Given the description of an element on the screen output the (x, y) to click on. 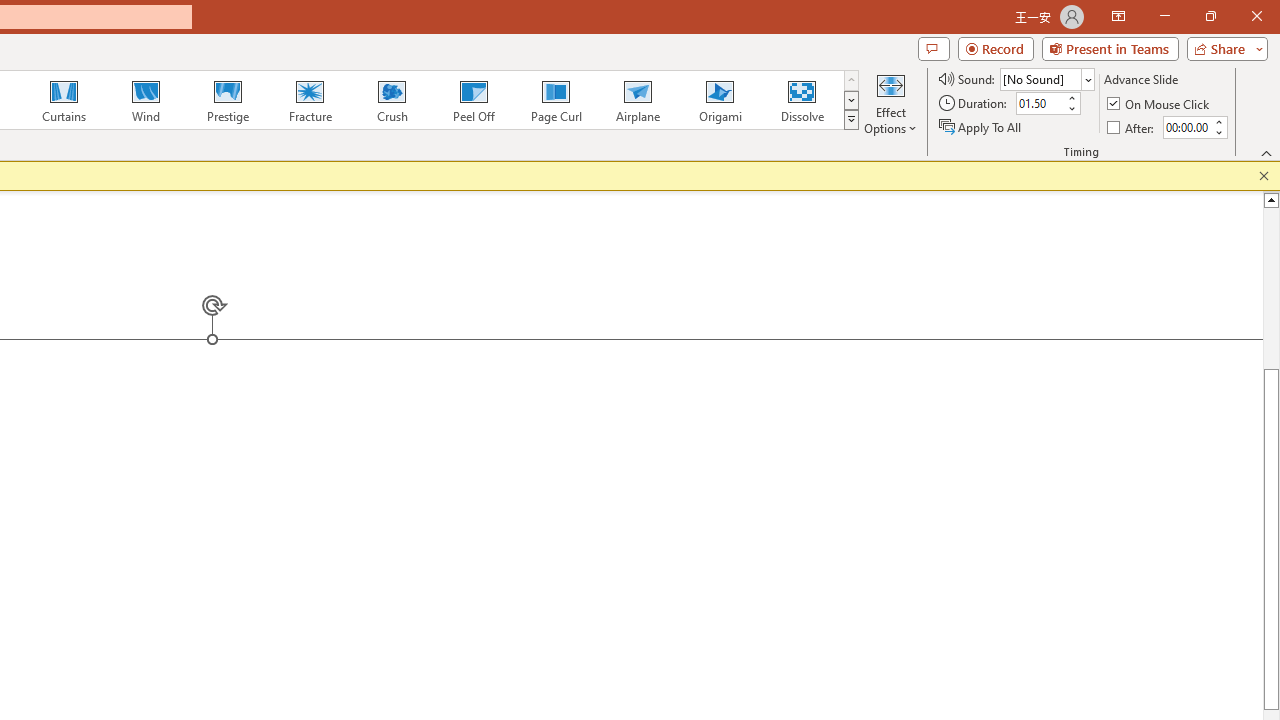
Dissolve (802, 100)
Airplane (637, 100)
Prestige (227, 100)
Curtains (63, 100)
Sound (1046, 78)
